Given the description of an element on the screen output the (x, y) to click on. 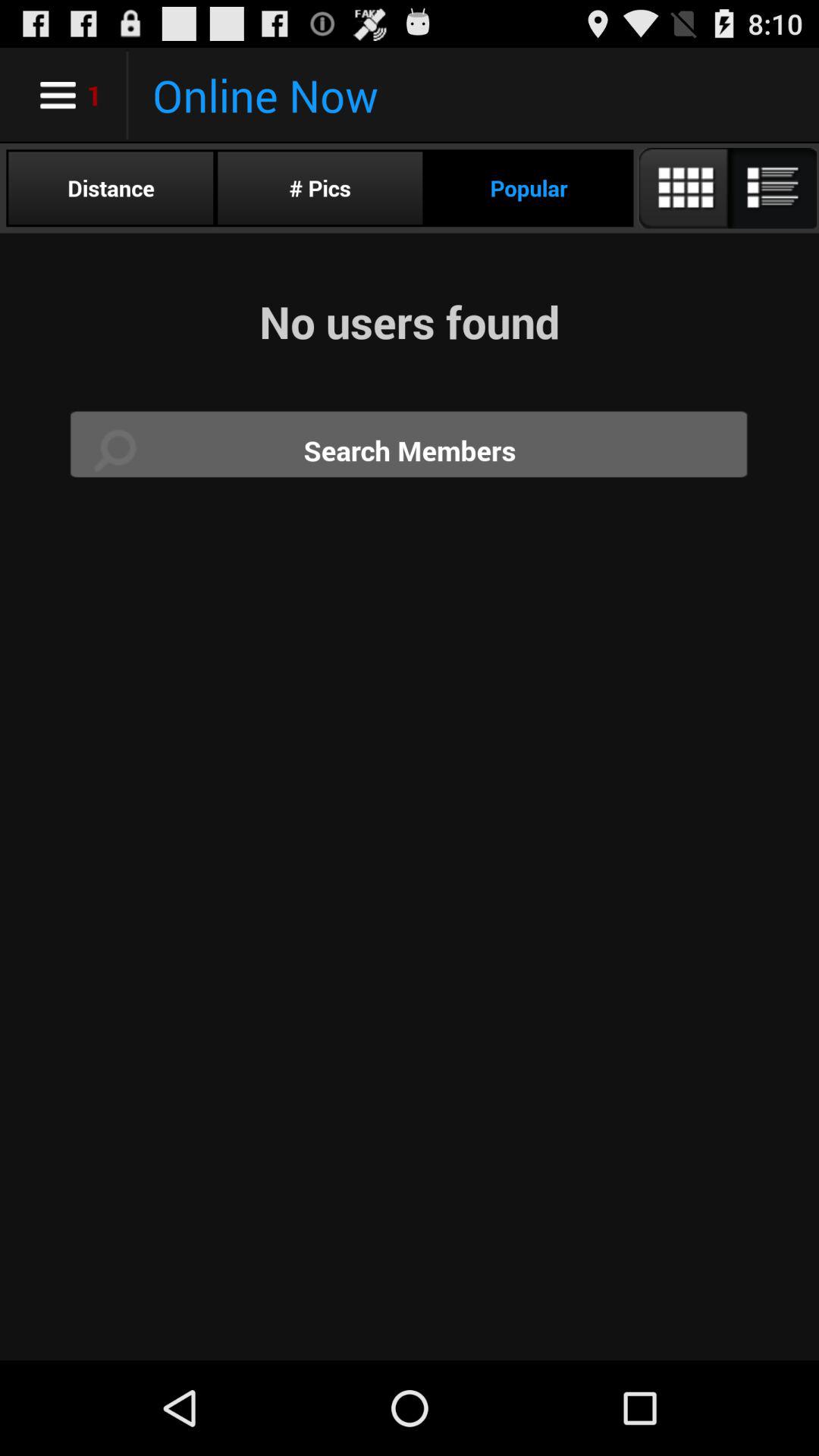
flip to the distance radio button (110, 187)
